Given the description of an element on the screen output the (x, y) to click on. 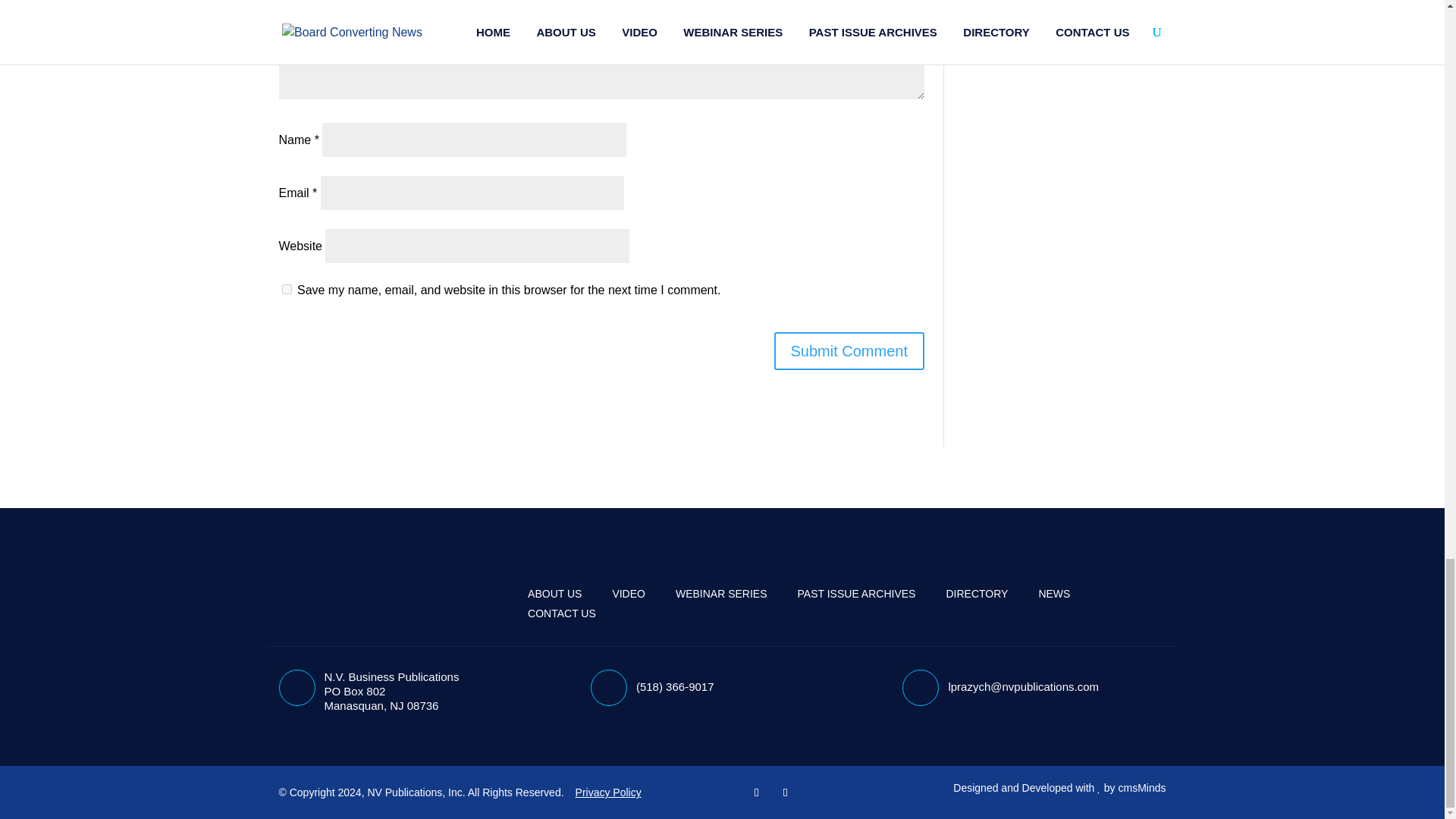
WEBINAR SERIES (721, 593)
yes (287, 289)
Follow on LinkedIn (785, 792)
ABOUT US (553, 593)
Submit Comment (848, 351)
Follow on Facebook (756, 792)
NEWS (1054, 593)
Privacy Policy (608, 792)
PAST ISSUE ARCHIVES (856, 593)
DIRECTORY (975, 593)
VIDEO (628, 593)
Designed and Developed with by cmsMinds (1059, 787)
CONTACT US (561, 613)
Submit Comment (848, 351)
